Given the description of an element on the screen output the (x, y) to click on. 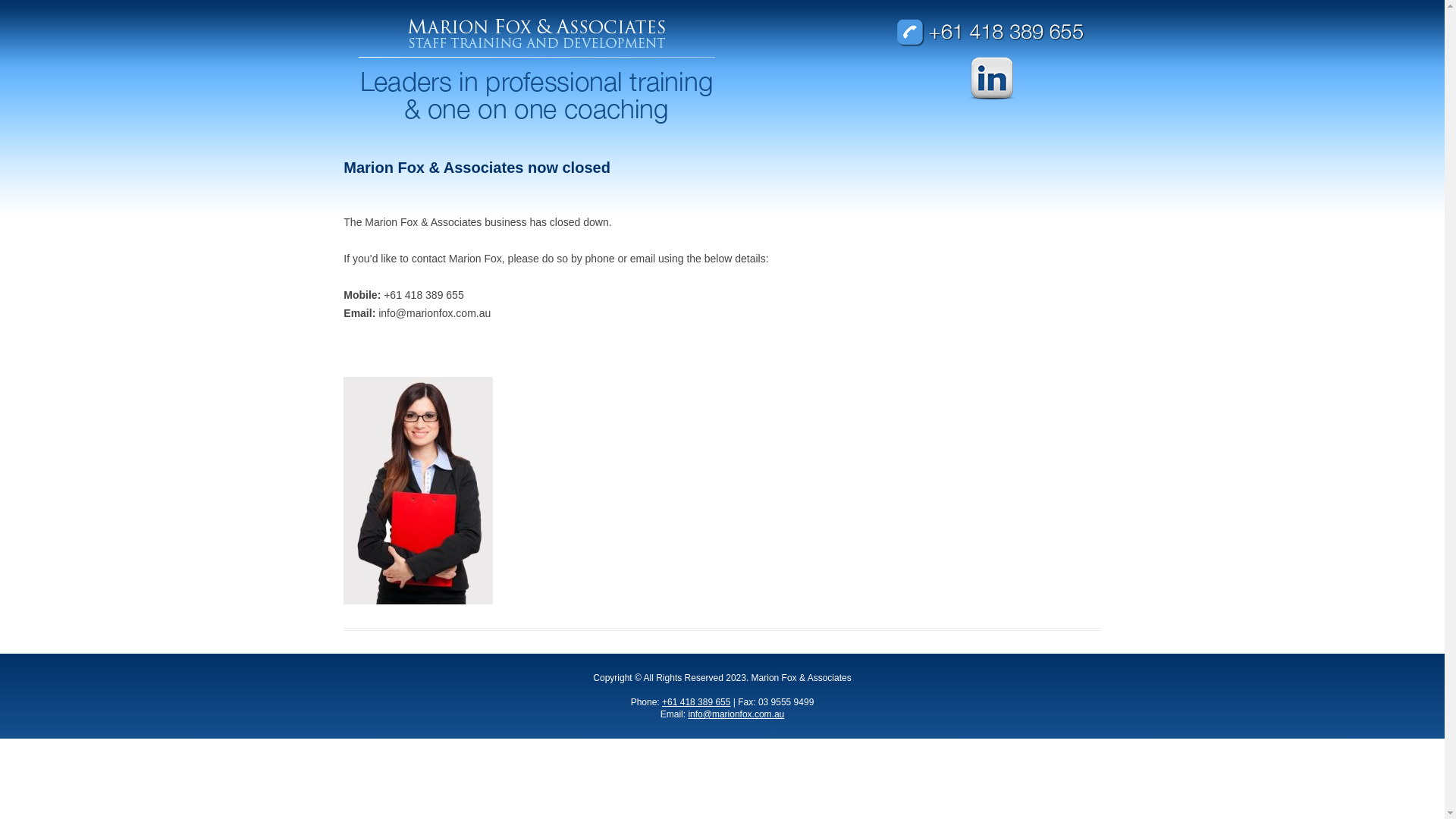
+61 418 389 655 Element type: text (696, 701)
Skip to content Element type: text (721, 140)
info@marionfox.com.au Element type: text (735, 714)
